Given the description of an element on the screen output the (x, y) to click on. 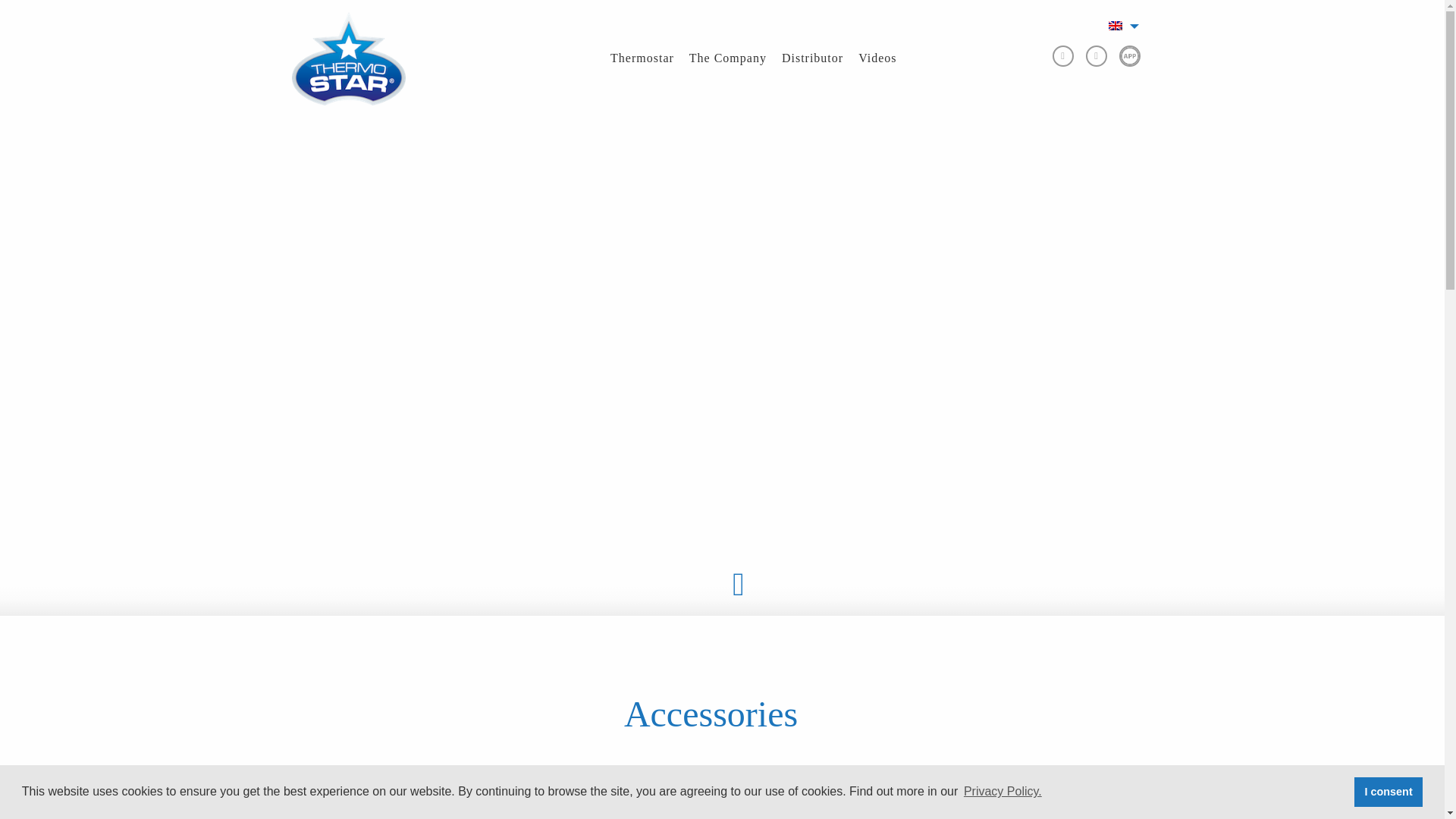
I consent (1388, 791)
Privacy Policy. (1001, 791)
